Given the description of an element on the screen output the (x, y) to click on. 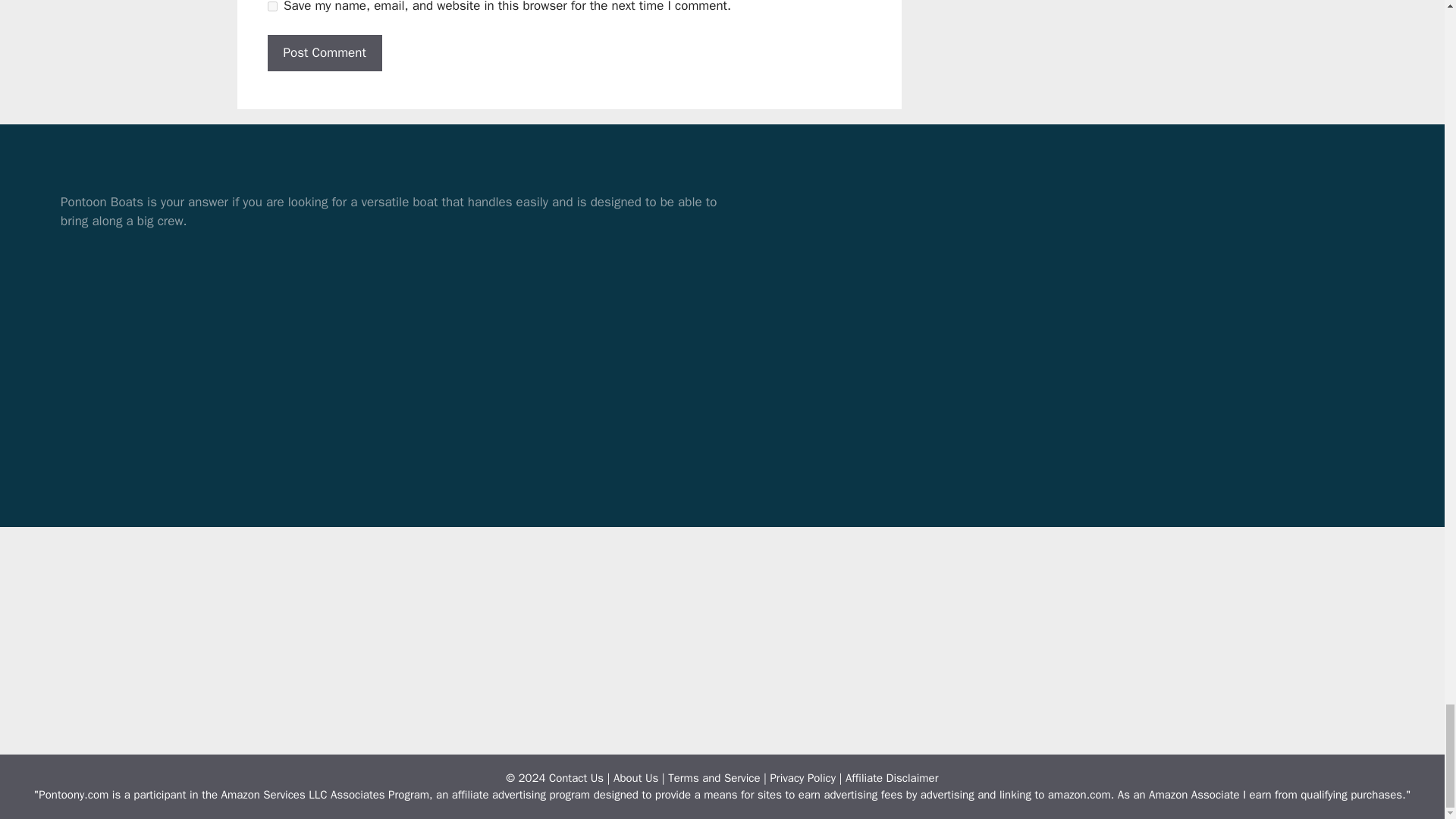
Affiliate Disclaimer (892, 777)
Post Comment (323, 53)
Terms and Service (714, 777)
Privacy Policy (802, 777)
yes (271, 6)
About Us (635, 777)
Post Comment (323, 53)
Contact Us (576, 777)
